Given the description of an element on the screen output the (x, y) to click on. 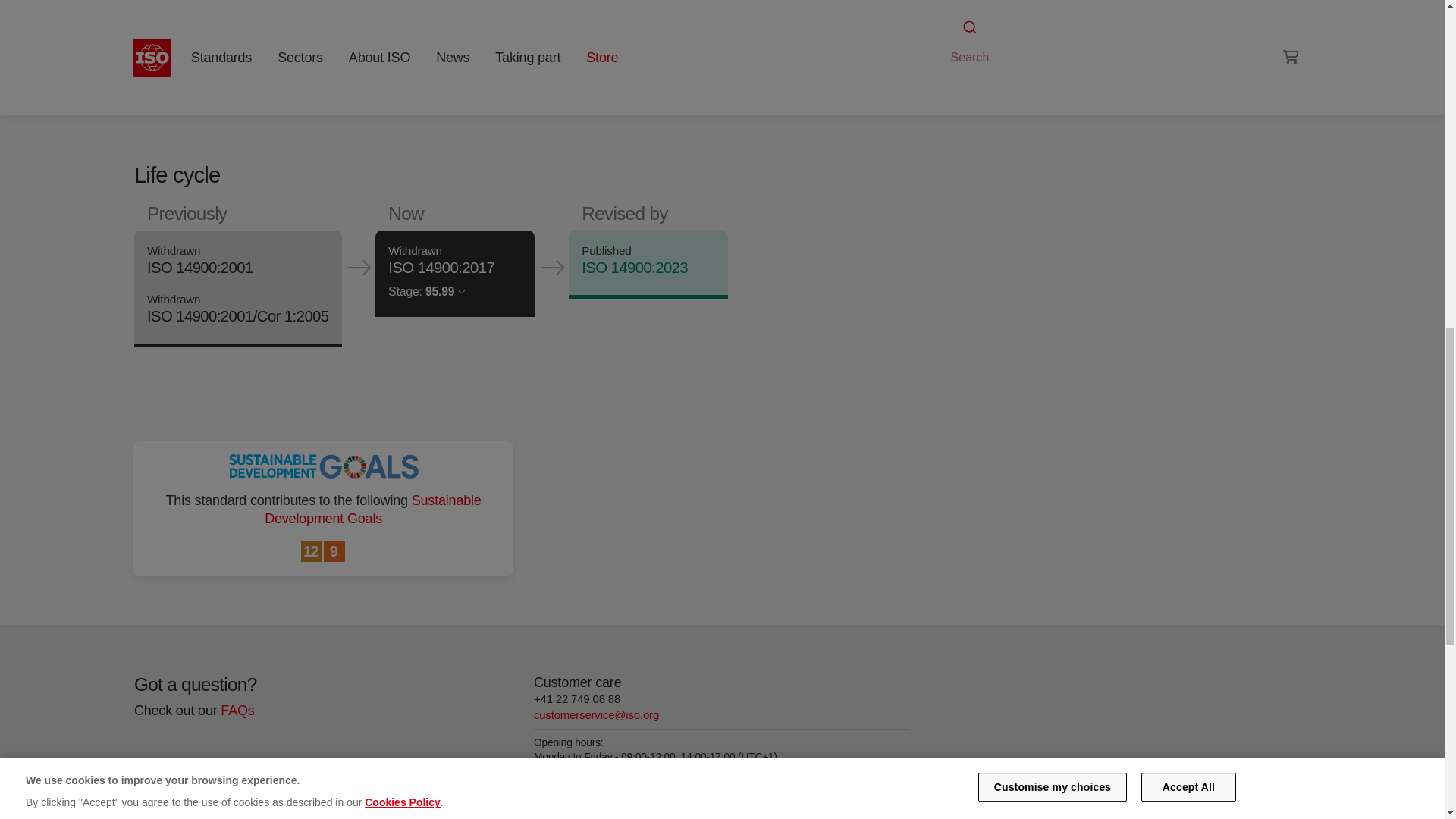
Stage: 95.99 (426, 291)
Responsible Consumption and Production (312, 551)
Thermosetting materials (997, 8)
Industry, Innovation and Infrastructure (334, 551)
RSS (956, 38)
83.080.10 (997, 8)
ISO 14900:2001 (199, 268)
